Given the description of an element on the screen output the (x, y) to click on. 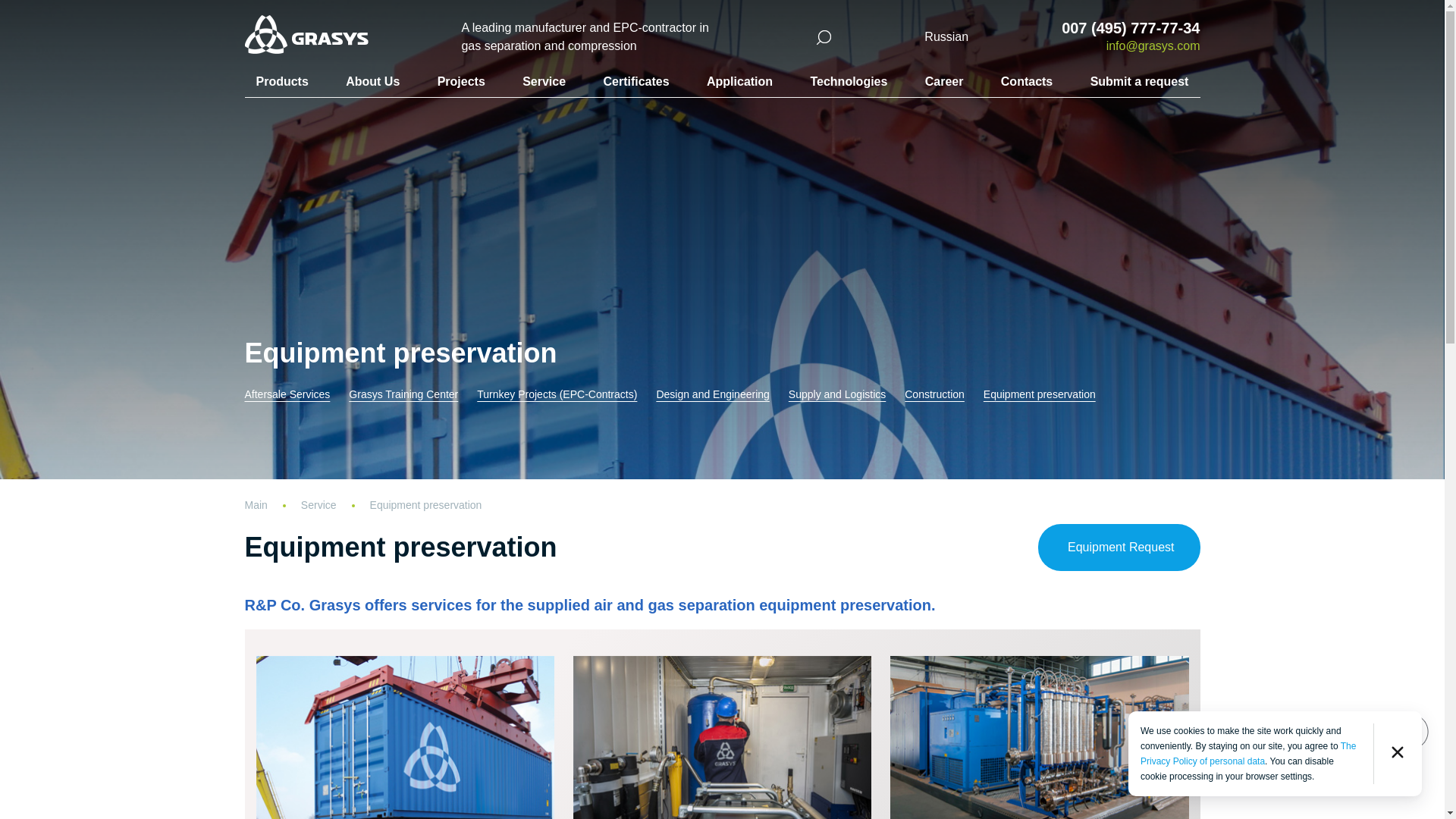
Russian (946, 36)
Main (271, 504)
Construction (933, 394)
Products (282, 81)
Design and Engineering (712, 394)
Equipment preservation (1040, 394)
Supply and Logistics (837, 394)
Service (335, 504)
Equipment preservation (425, 504)
Aftersale Services (287, 394)
